Given the description of an element on the screen output the (x, y) to click on. 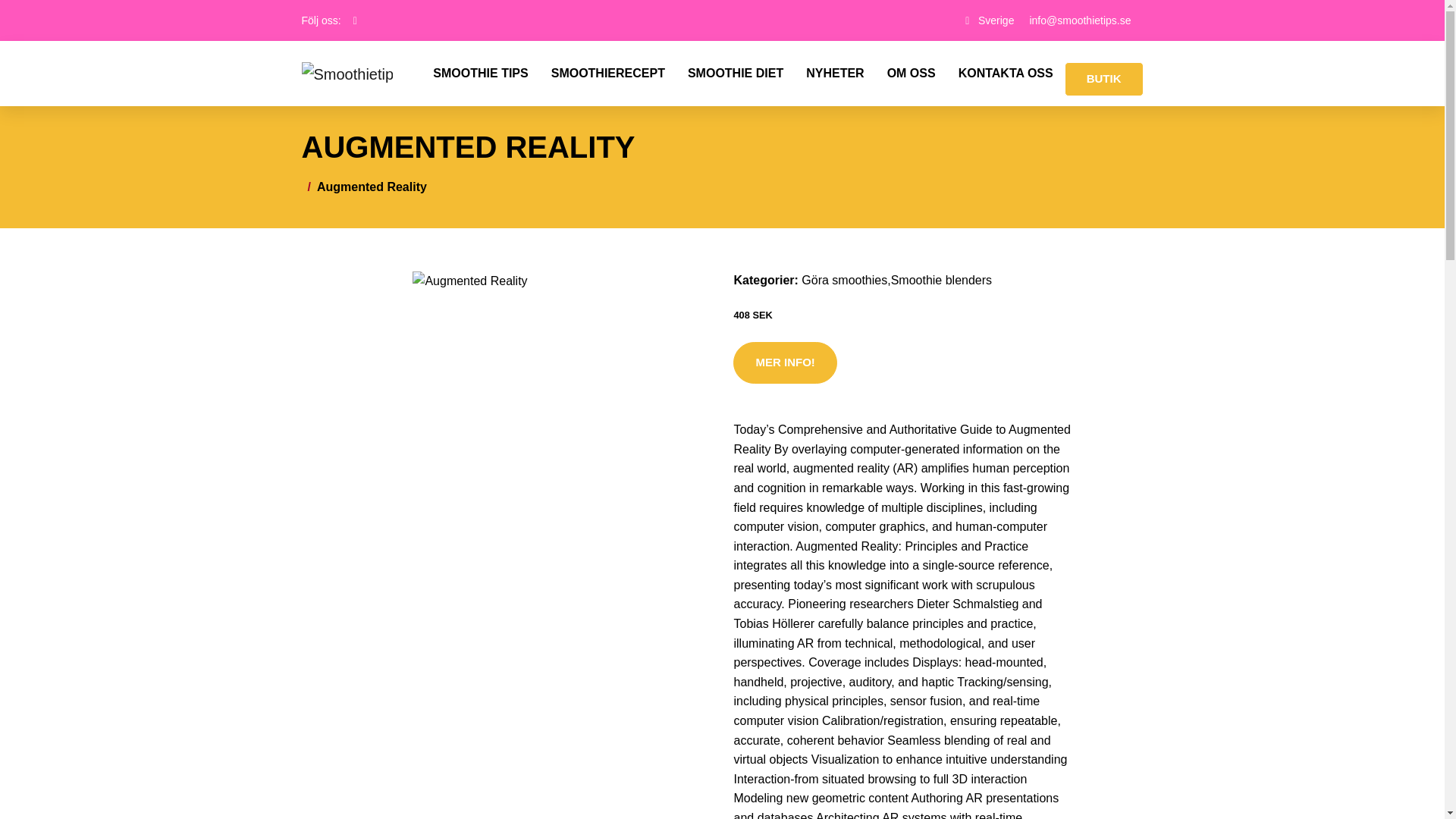
NYHETER (834, 73)
KONTAKTA OSS (1005, 73)
SMOOTHIE DIET (735, 73)
SMOOTHIERECEPT (608, 73)
Sverige (995, 20)
Smoothie blenders (941, 279)
OM OSS (911, 73)
SMOOTHIE TIPS (480, 73)
MER INFO! (784, 363)
BUTIK (1103, 79)
